Given the description of an element on the screen output the (x, y) to click on. 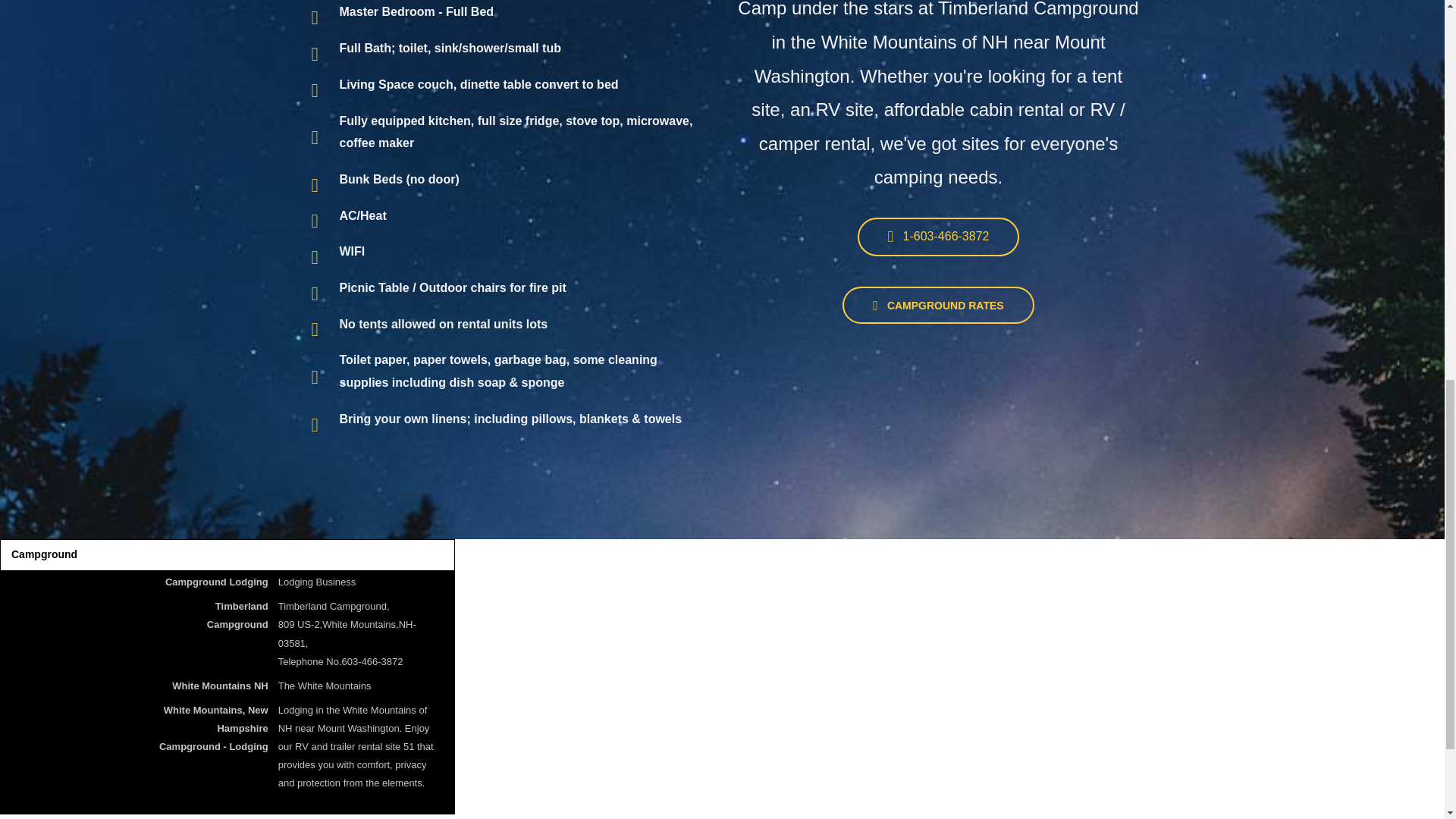
1-603-466-3872 (938, 236)
Click Here (938, 236)
CAMPGROUND RATES (938, 304)
Click Here (938, 304)
